Given the description of an element on the screen output the (x, y) to click on. 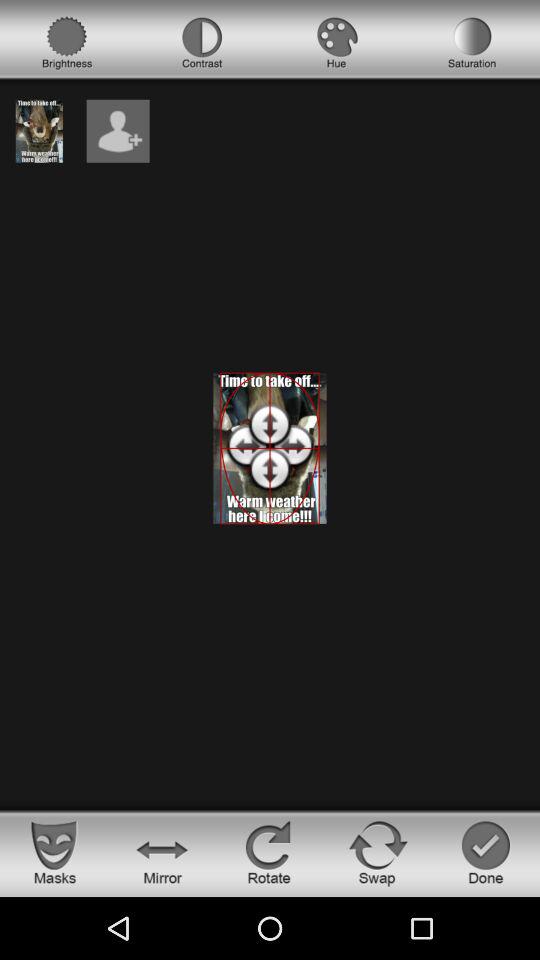
check mark done button (485, 852)
